Given the description of an element on the screen output the (x, y) to click on. 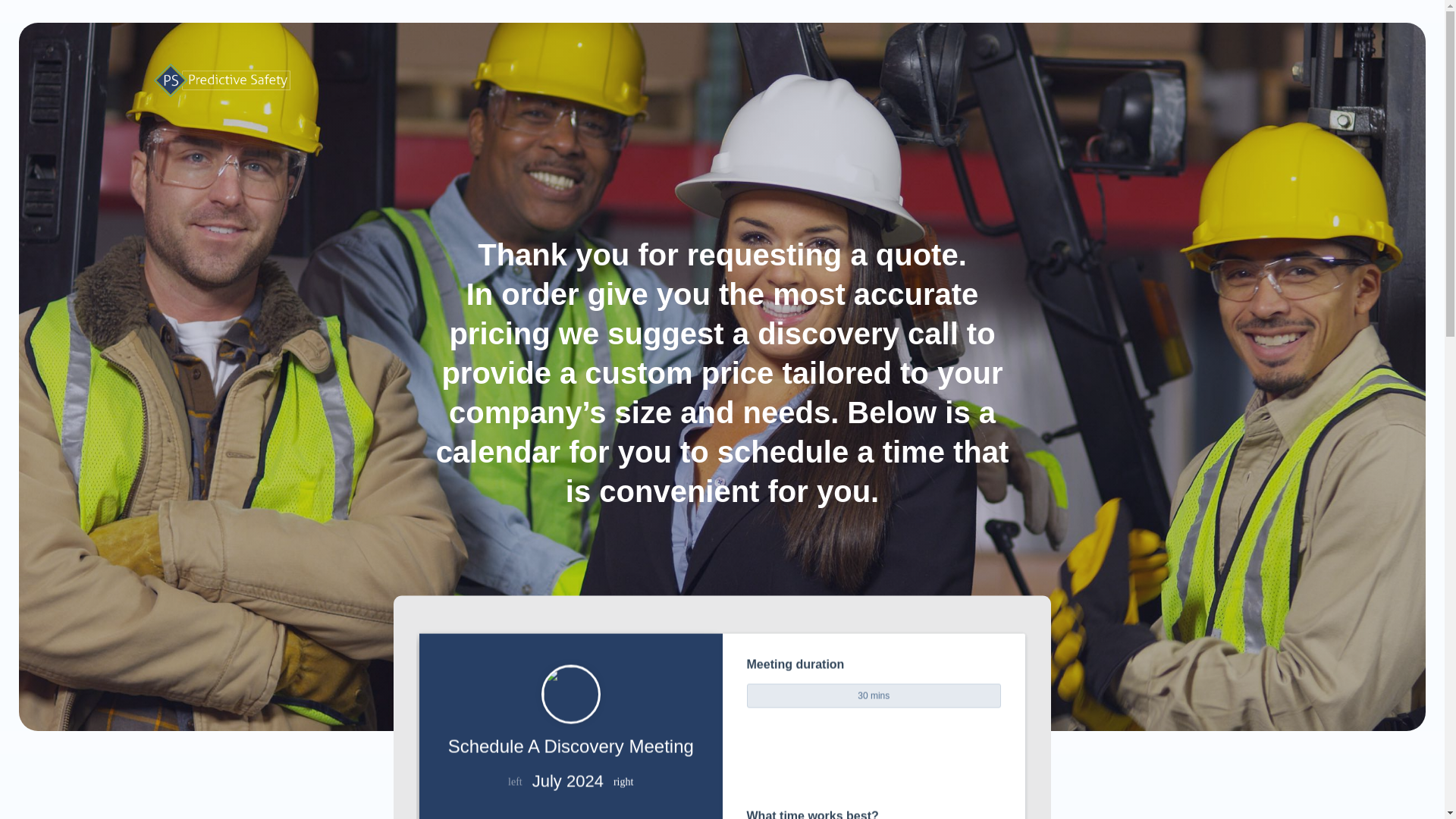
PS logo horiz white (220, 80)
